Given the description of an element on the screen output the (x, y) to click on. 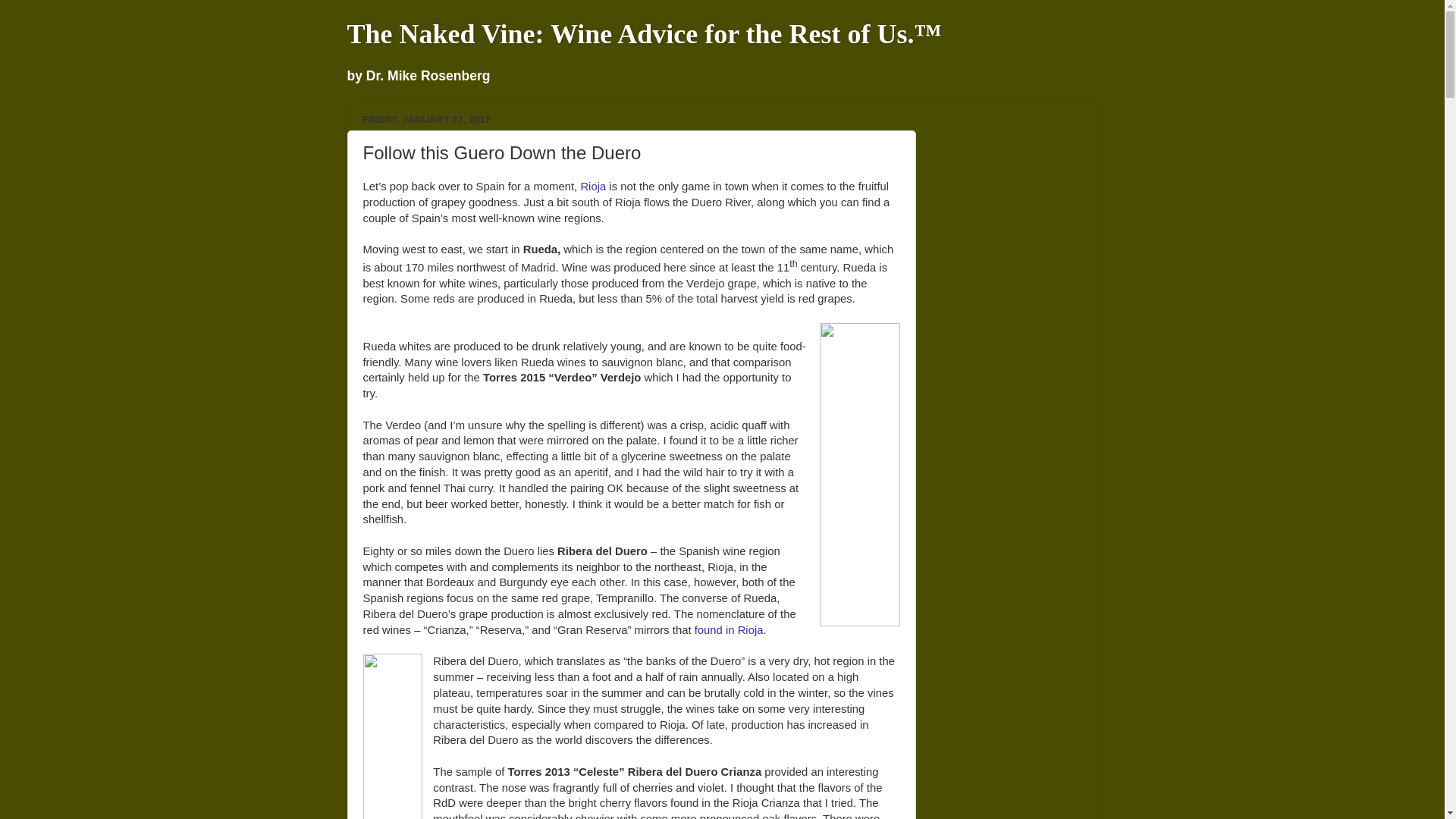
found in Rioja (728, 630)
Rioja (592, 186)
